Given the description of an element on the screen output the (x, y) to click on. 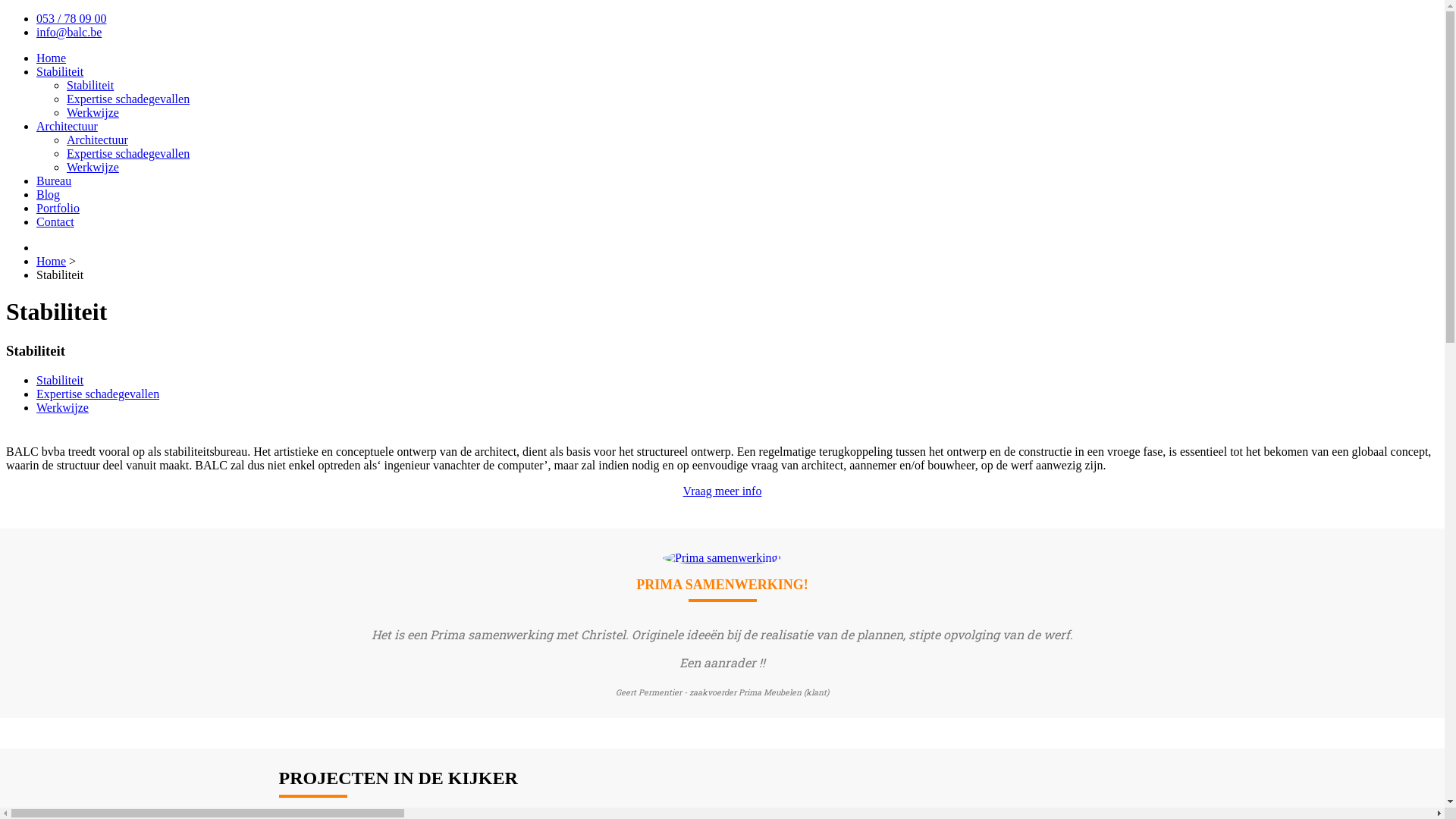
Expertise schadegevallen Element type: text (127, 153)
Expertise schadegevallen Element type: text (127, 98)
Werkwijze Element type: text (92, 112)
Portfolio Element type: text (57, 207)
Stabiliteit Element type: text (59, 379)
Expertise schadegevallen Element type: text (97, 393)
Architectuur Element type: text (97, 139)
info@balc.be Element type: text (68, 31)
Home Element type: text (50, 57)
Werkwijze Element type: text (62, 407)
Home Element type: text (50, 260)
053 / 78 09 00 Element type: text (71, 18)
Vraag meer info Element type: text (722, 490)
Contact Element type: text (55, 221)
Werkwijze Element type: text (92, 166)
Stabiliteit Element type: text (59, 71)
Blog Element type: text (47, 194)
Stabiliteit Element type: text (89, 84)
Bureau Element type: text (53, 180)
Lees verder "Prima samenwerking!" Element type: hover (721, 557)
Architectuur Element type: text (66, 125)
